Given the description of an element on the screen output the (x, y) to click on. 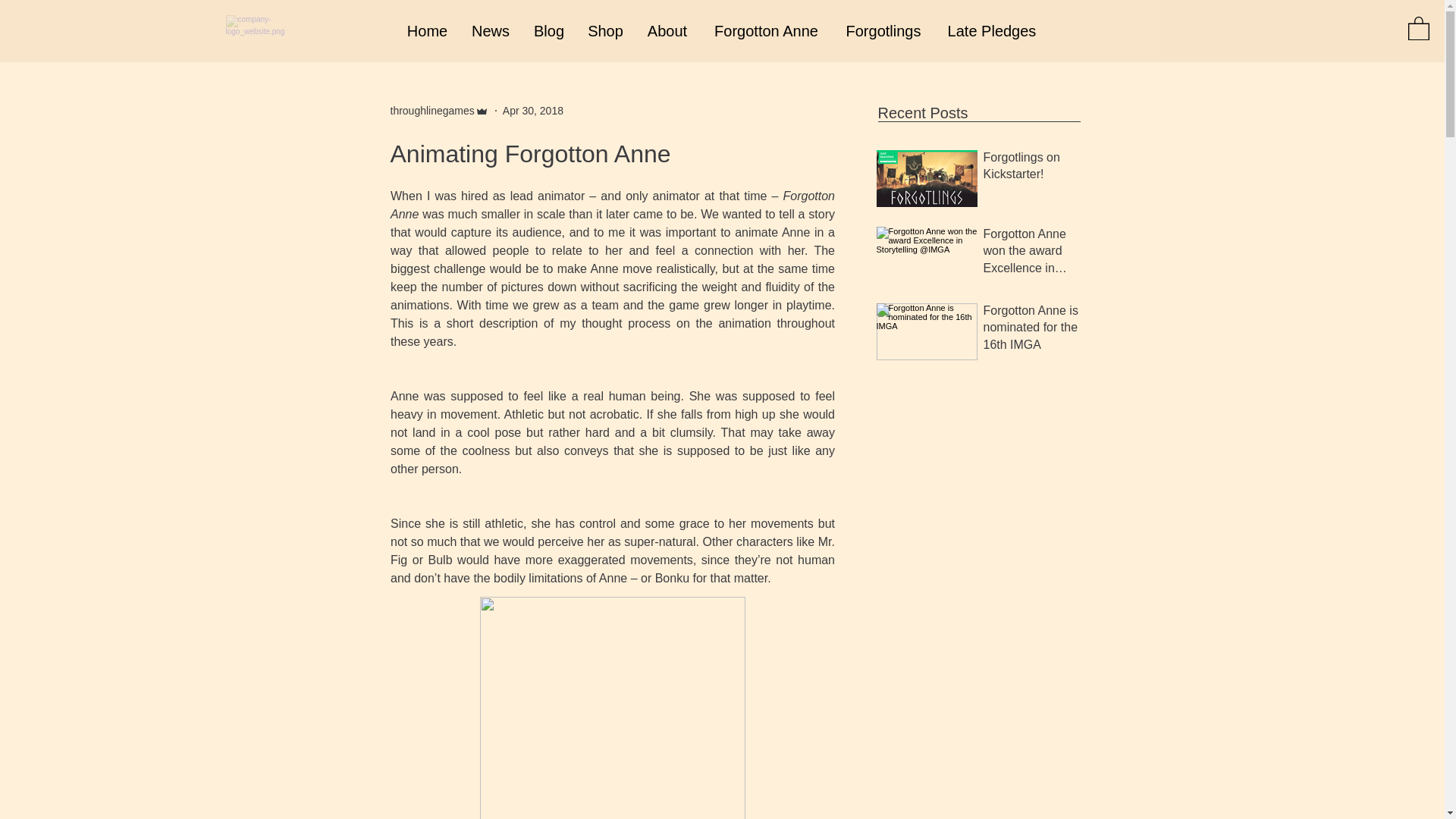
Late Pledges (991, 30)
Forgotlings on Kickstarter! (1033, 169)
News (490, 30)
Forgotton Anne (766, 30)
Home (427, 30)
About (667, 30)
Forgotton Anne is nominated for the 16th IMGA (1033, 330)
Forgotlings (883, 30)
Blog (548, 30)
Apr 30, 2018 (532, 110)
Shop (605, 30)
throughlinegames (432, 110)
